Given the description of an element on the screen output the (x, y) to click on. 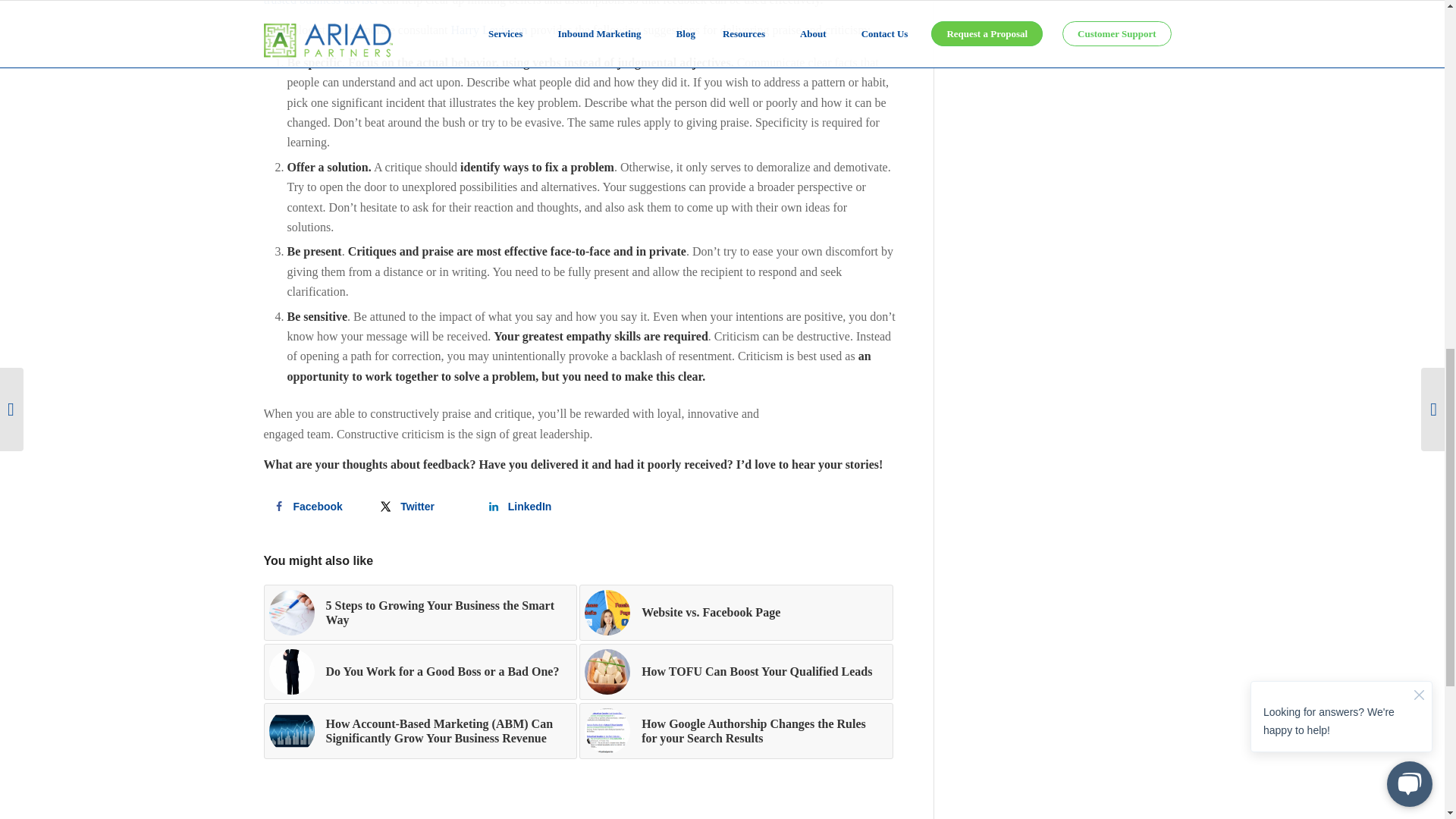
Website vs. Facebook Page (736, 612)
business website vs facebook page (607, 612)
Harry Levinson (489, 29)
grow-your-business (290, 612)
Welcome To Ariad Partners (320, 2)
trusted business adviser (320, 2)
Share on LinkedIn (526, 506)
Share on X (418, 506)
5 Steps to Growing Your Business the Smart Way (420, 612)
Share on Facebook (310, 506)
Do You Work for a Good Boss or a Bad One? (420, 671)
